Given the description of an element on the screen output the (x, y) to click on. 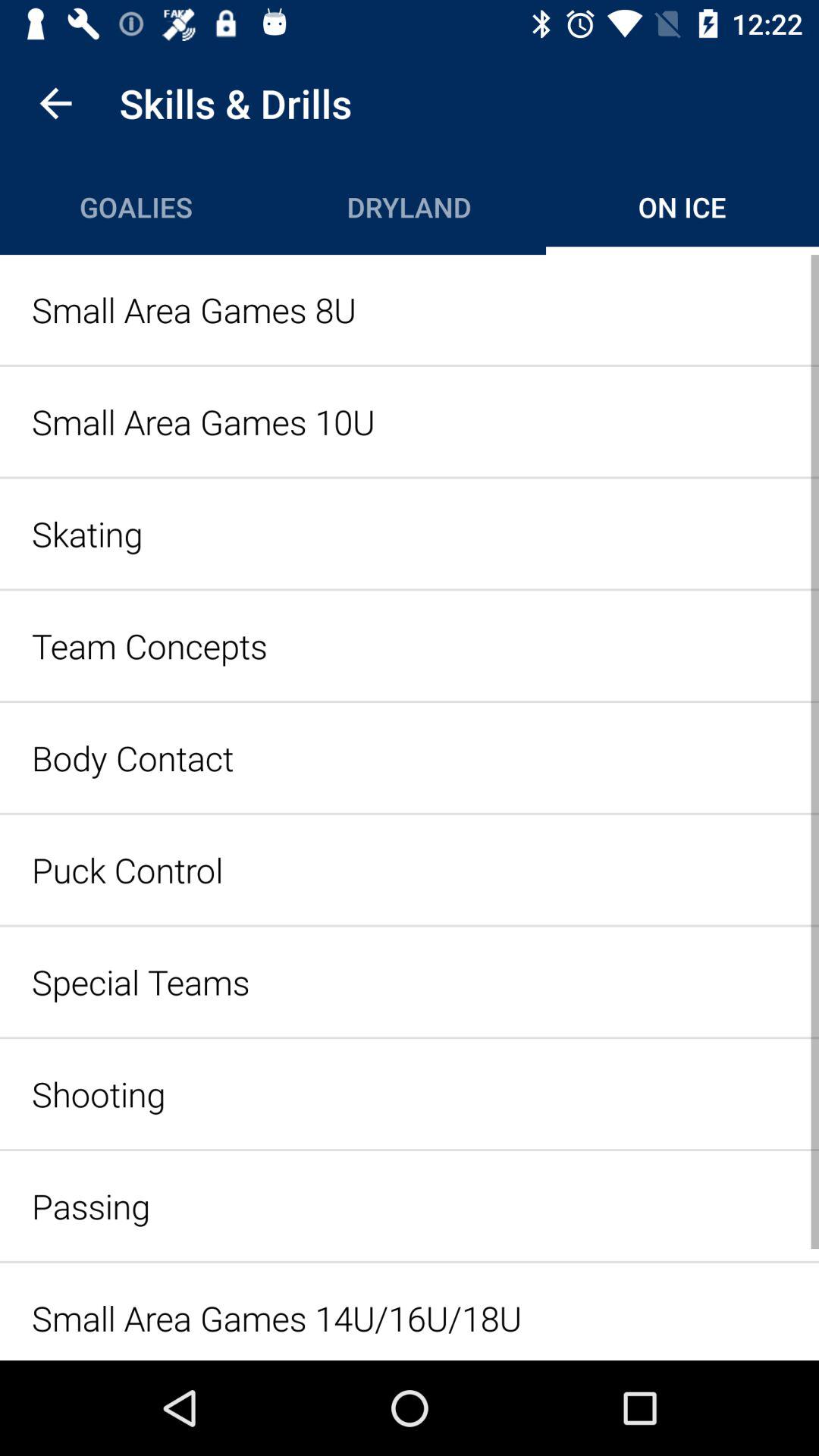
launch icon below shooting icon (409, 1205)
